Given the description of an element on the screen output the (x, y) to click on. 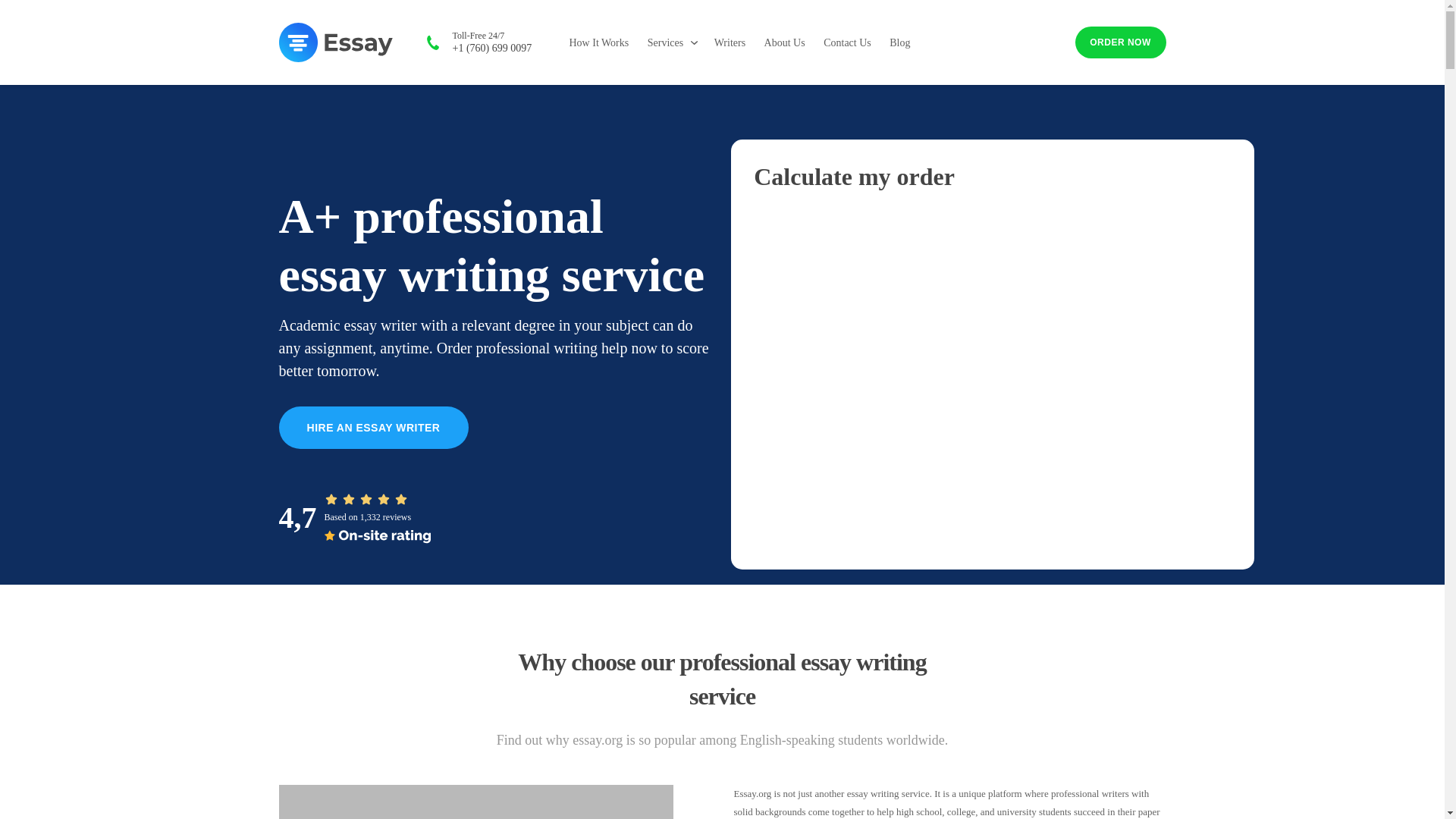
HIRE AN ESSAY WRITER (373, 427)
Contact Us (847, 42)
ORDER NOW (1120, 42)
Blog (899, 42)
Services (664, 42)
Writers (729, 42)
About Us (784, 42)
How It Works (598, 42)
